Given the description of an element on the screen output the (x, y) to click on. 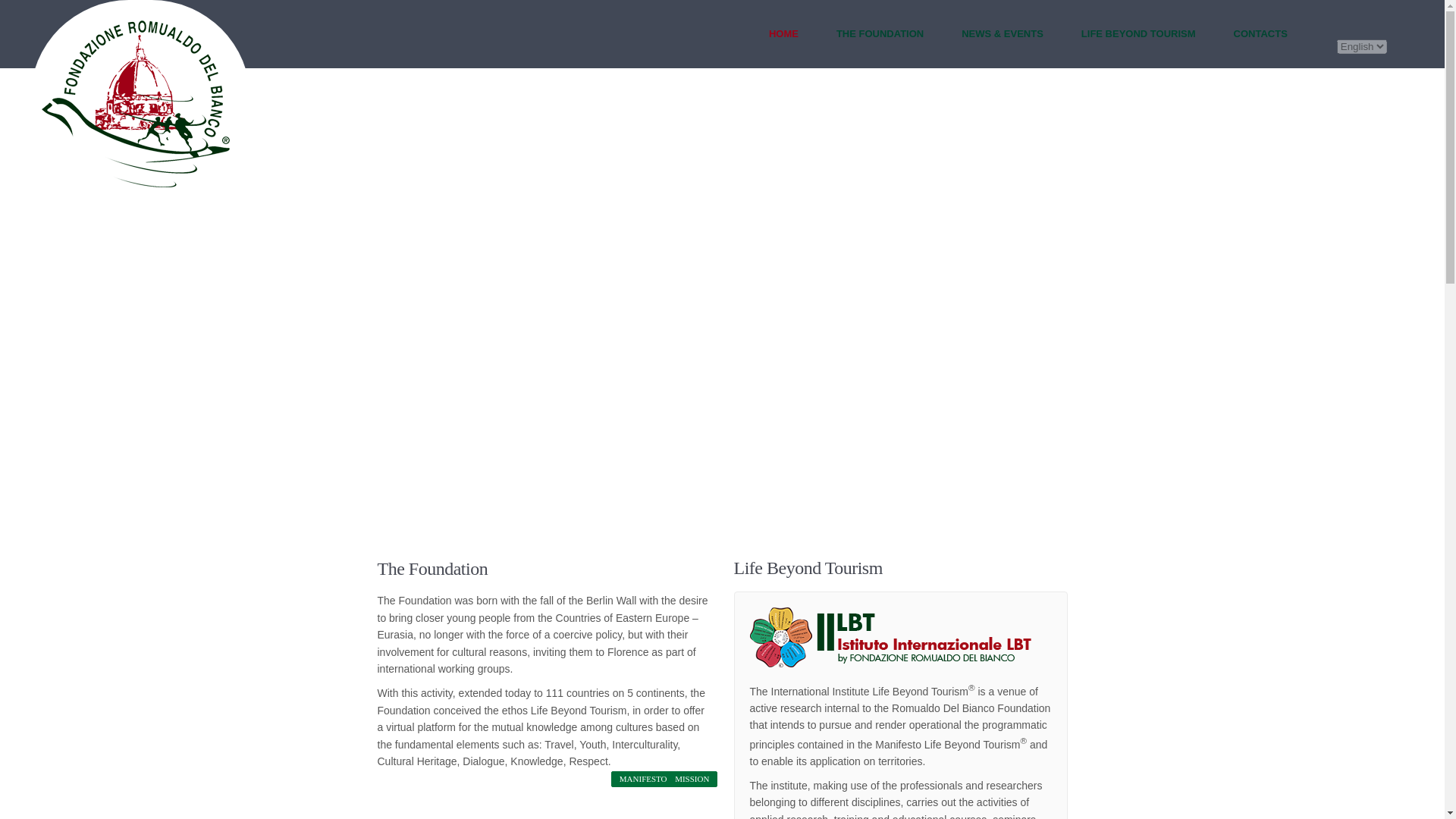
Fondazione Romualdo Del Bianco (135, 104)
THE FOUNDATION (879, 33)
HOME (782, 33)
